Given the description of an element on the screen output the (x, y) to click on. 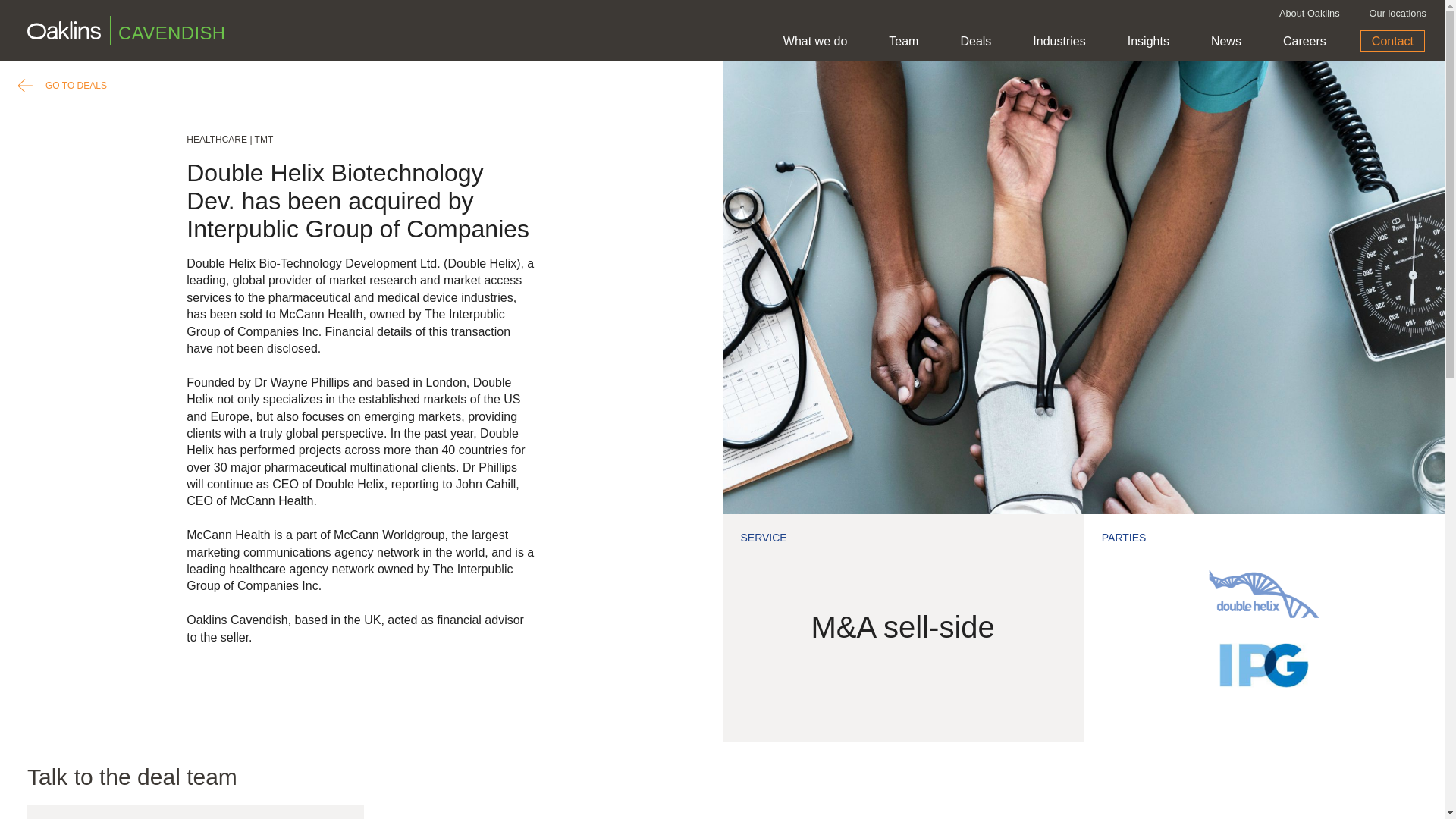
Deals (975, 42)
Insights (1147, 42)
Careers (1304, 42)
Contact (1392, 40)
About Oaklins (1309, 13)
GO TO DEALS (61, 85)
News (1226, 42)
Team (903, 42)
Our locations (1398, 13)
What we do (815, 42)
